Given the description of an element on the screen output the (x, y) to click on. 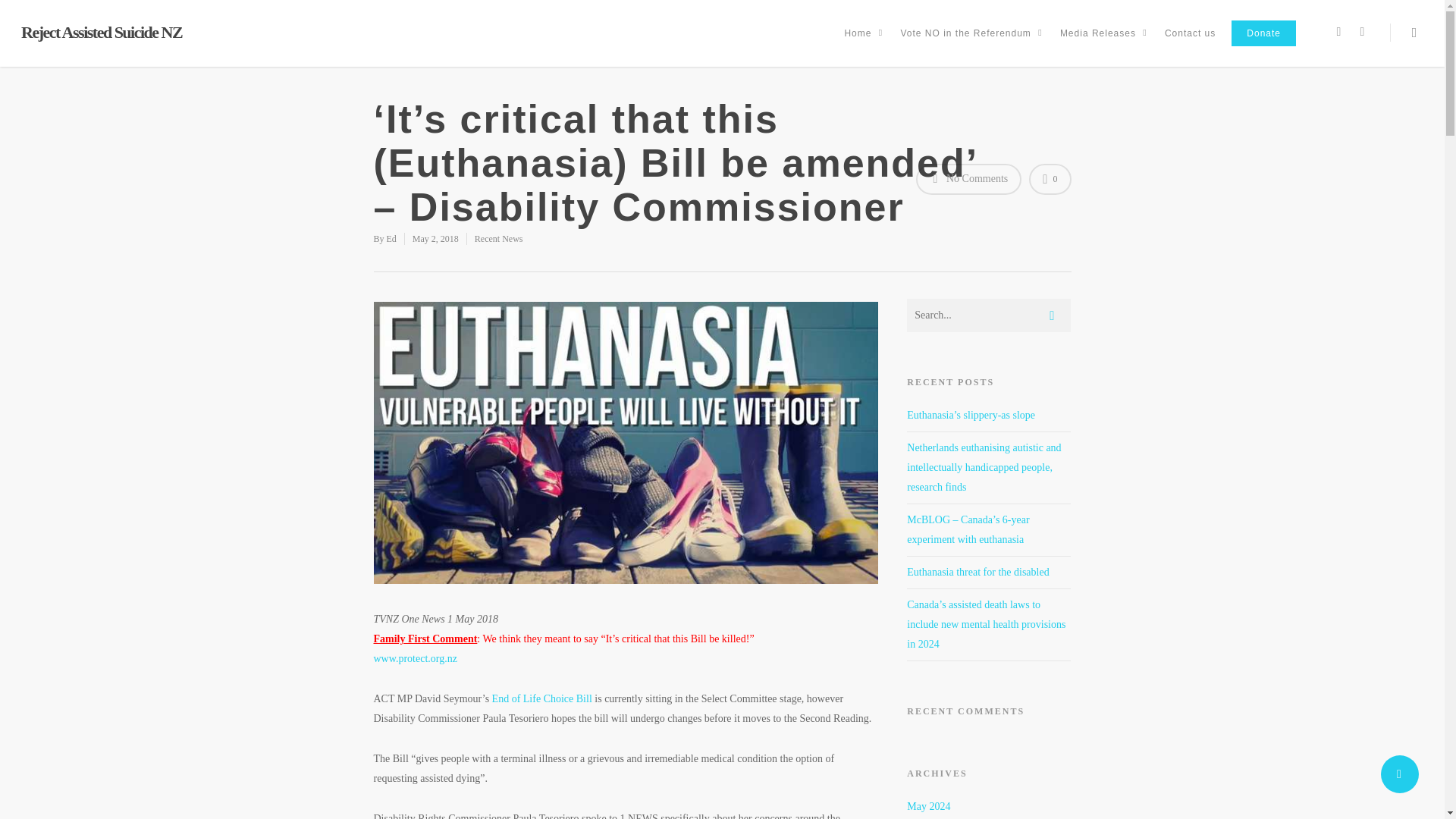
Home (863, 43)
Love this (1049, 178)
May 2024 (928, 806)
0 (1049, 178)
Ed (391, 238)
Vote NO in the Referendum (970, 43)
End of Life Choice Bill (542, 698)
Search for: (988, 315)
No Comments (968, 178)
Euthanasia threat for the disabled (977, 572)
Media Releases (1104, 43)
Donate (1263, 43)
www.protect.org.nz (414, 658)
Reject Assisted Suicide NZ (101, 32)
Recent News (498, 238)
